Given the description of an element on the screen output the (x, y) to click on. 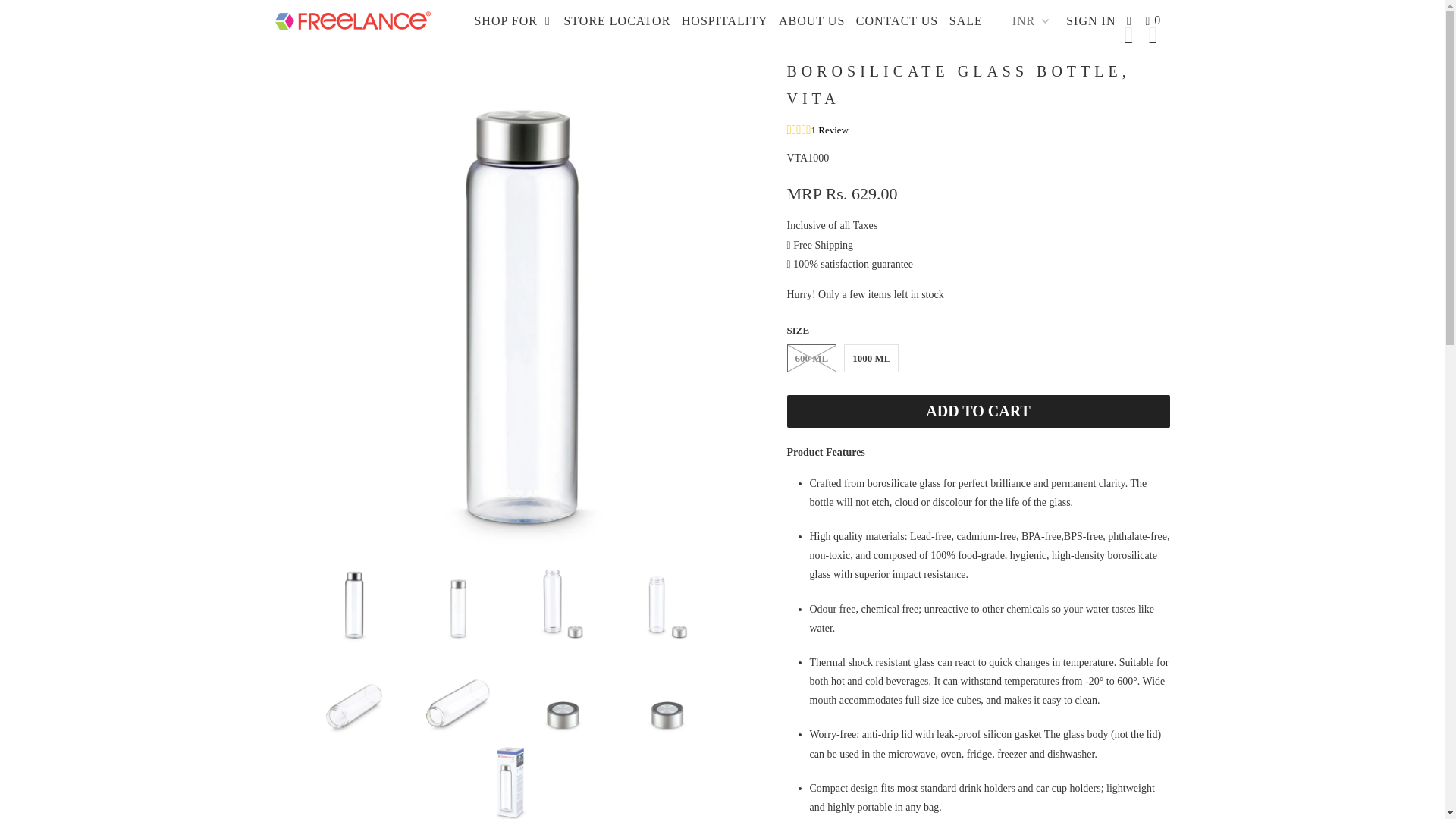
My Account  (1090, 21)
SIGN IN (1090, 21)
Freelance (352, 17)
